Given the description of an element on the screen output the (x, y) to click on. 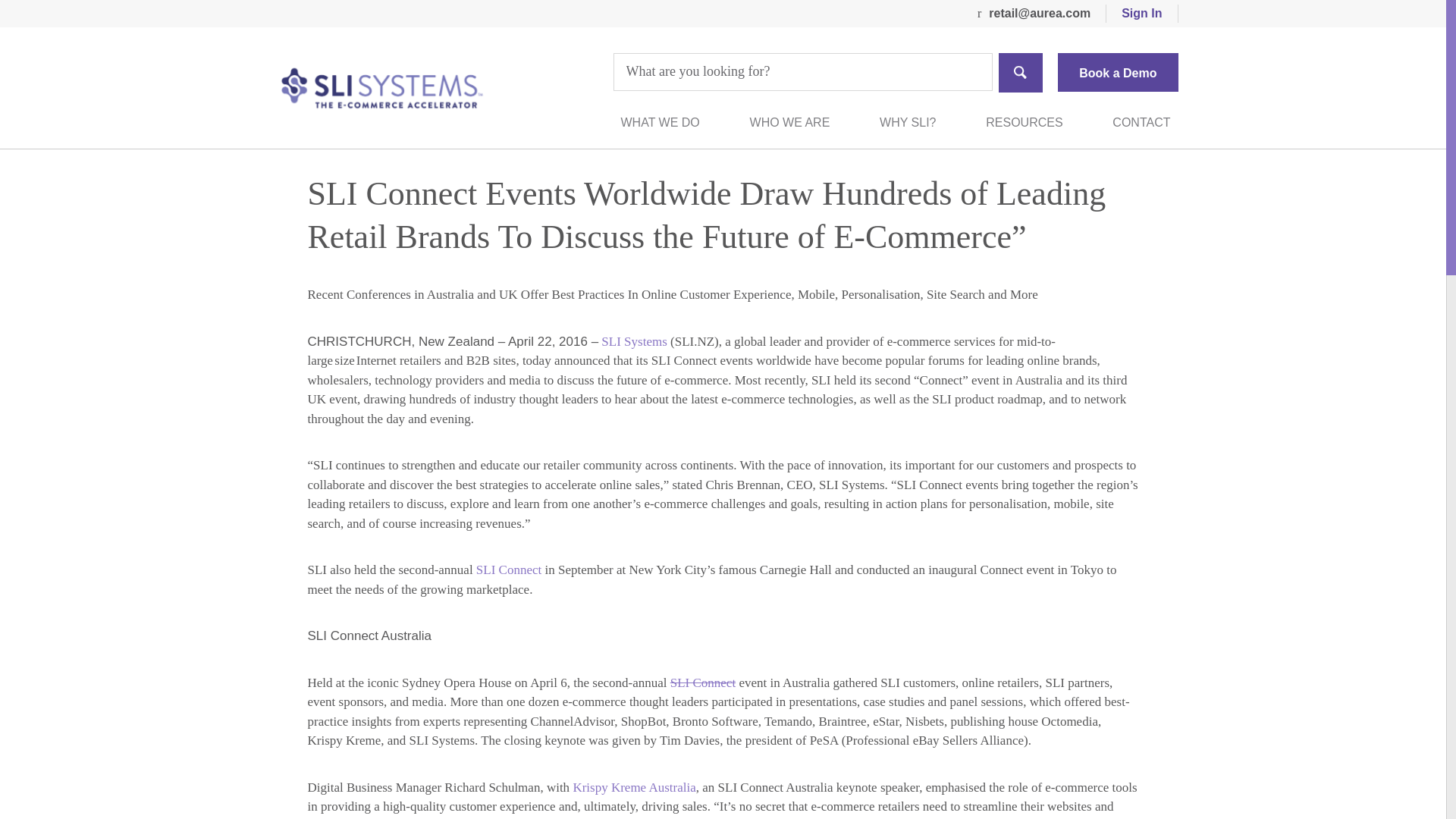
RESOURCES (1023, 122)
Sign In (1141, 13)
WHY SLI? (907, 122)
SLI Connect (508, 569)
WHAT WE DO (659, 122)
Search for: (801, 71)
WHO WE ARE (789, 122)
SLI Systems (633, 341)
CONTACT (1141, 122)
Book a Demo (1117, 72)
